Given the description of an element on the screen output the (x, y) to click on. 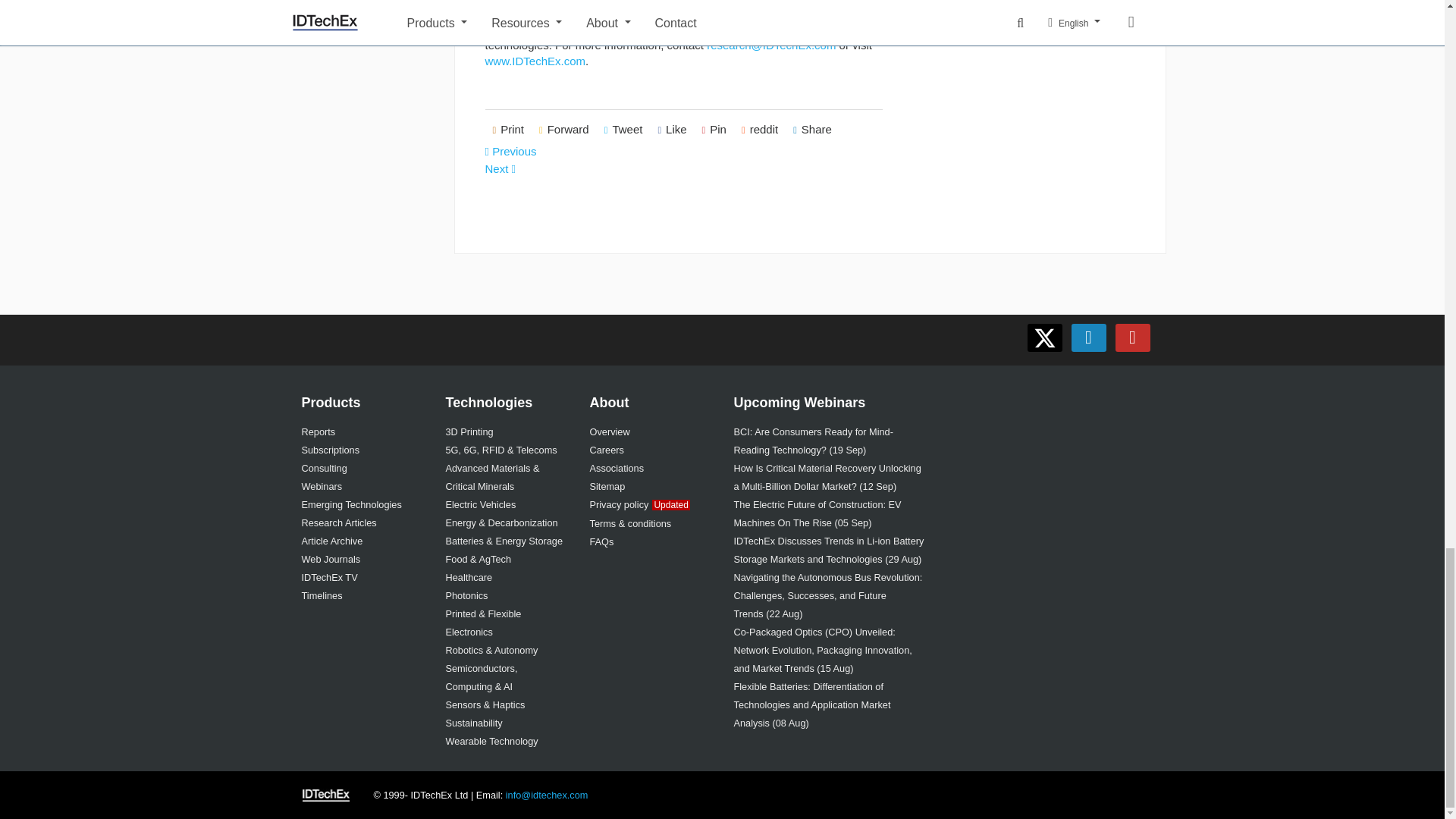
Share on Facebook (671, 129)
IDTechEx TV (329, 577)
Print Article (508, 129)
Share on Reddit (759, 129)
Timelines (321, 595)
Emerging Technologies (351, 504)
Consulting (324, 468)
Research Articles (339, 522)
3D Printing (469, 431)
Web Journals (331, 559)
Article Archive (331, 541)
Reports (318, 431)
Share on LinkedIn (813, 129)
Share on Pinterest (713, 129)
Subscriptions (330, 449)
